Given the description of an element on the screen output the (x, y) to click on. 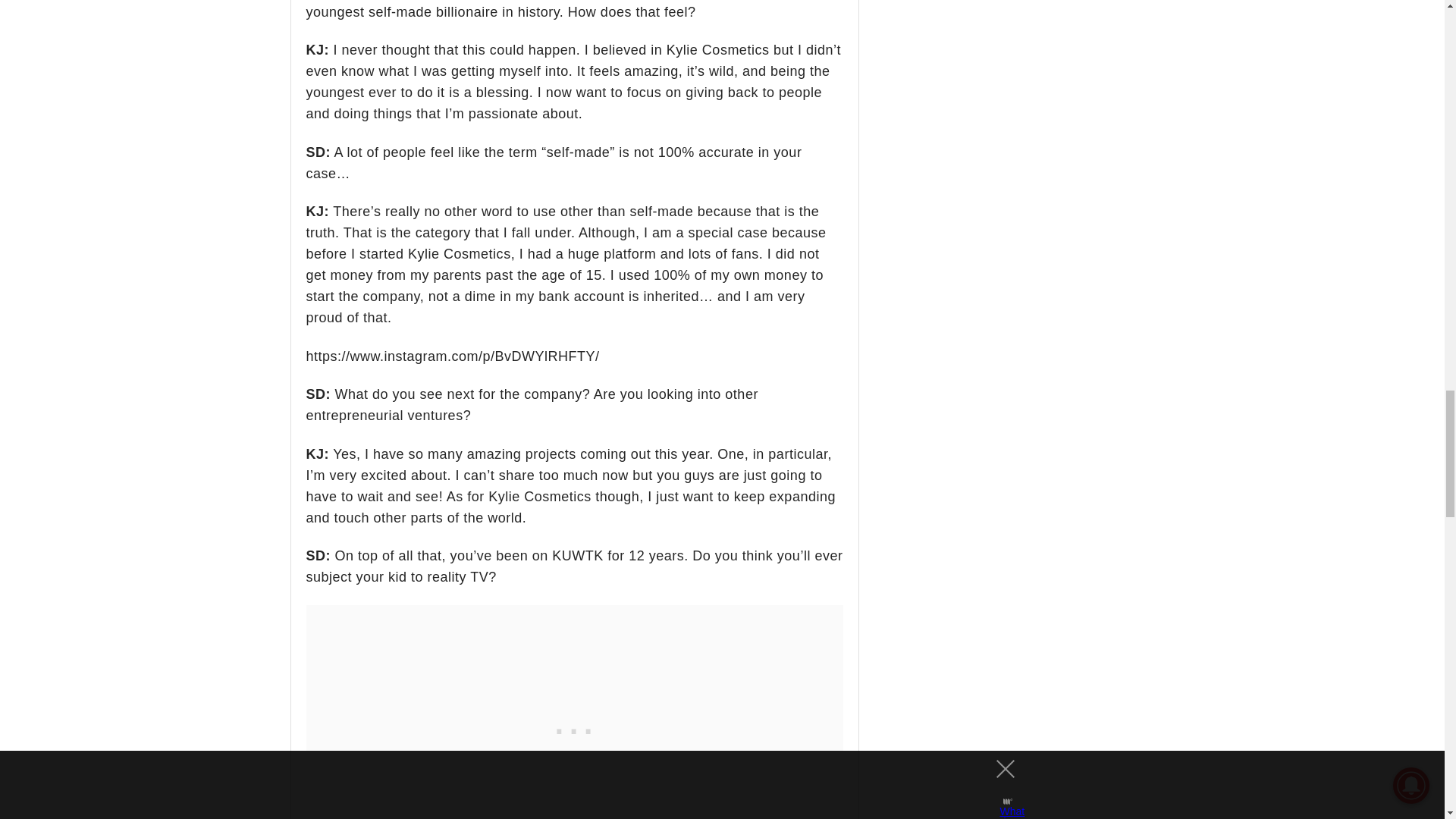
3rd party ad content (574, 727)
